Given the description of an element on the screen output the (x, y) to click on. 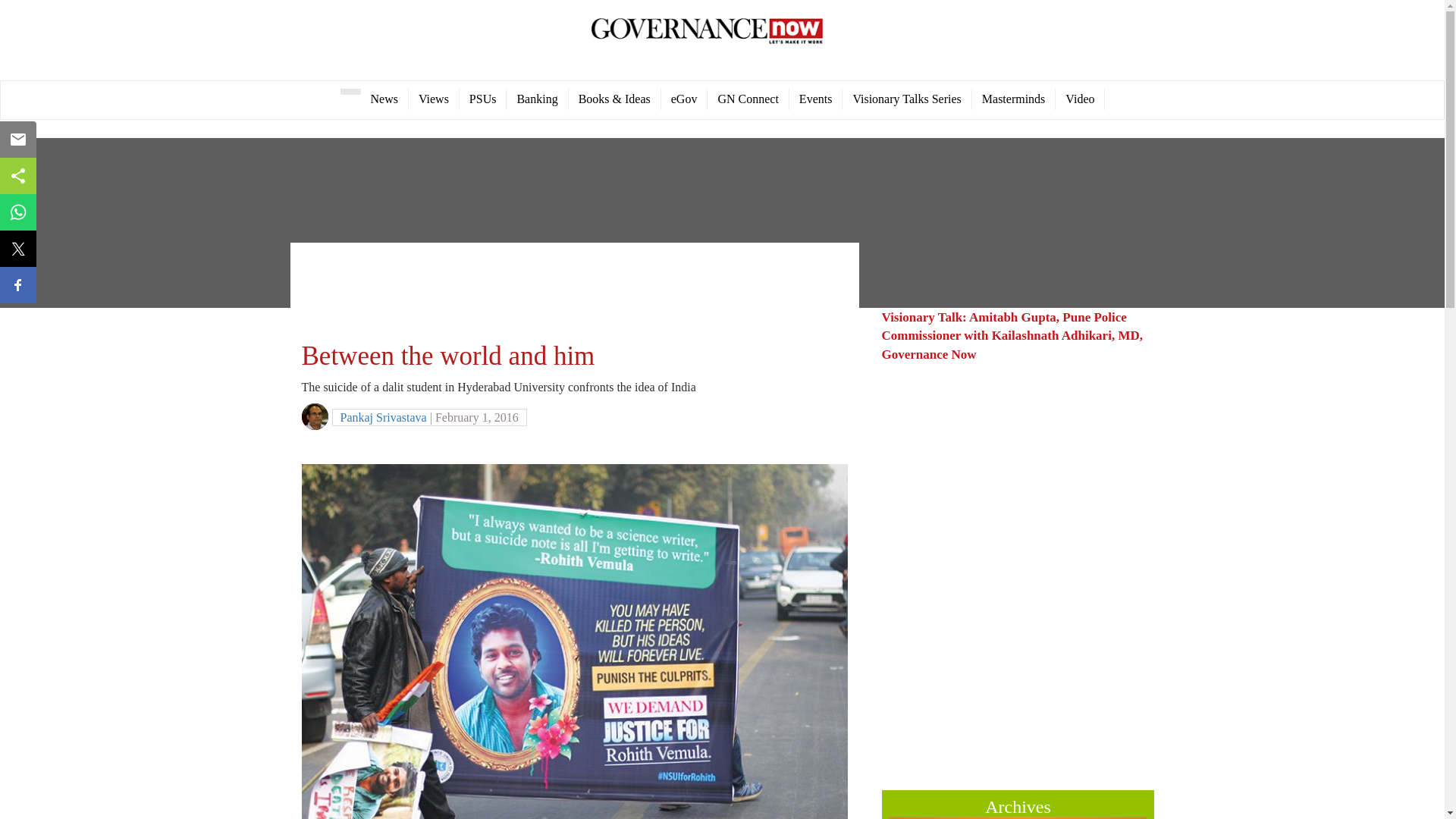
Advertisement (1007, 679)
Views (434, 98)
eGov (684, 98)
Pankaj Srivastava (382, 417)
News (385, 98)
eGov (684, 98)
News (385, 98)
Banking (536, 98)
Masterminds (1014, 98)
Visionary Talks Series (907, 98)
Views (434, 98)
Video (1080, 98)
Visionary Talks Series (907, 98)
eGov (748, 98)
